Given the description of an element on the screen output the (x, y) to click on. 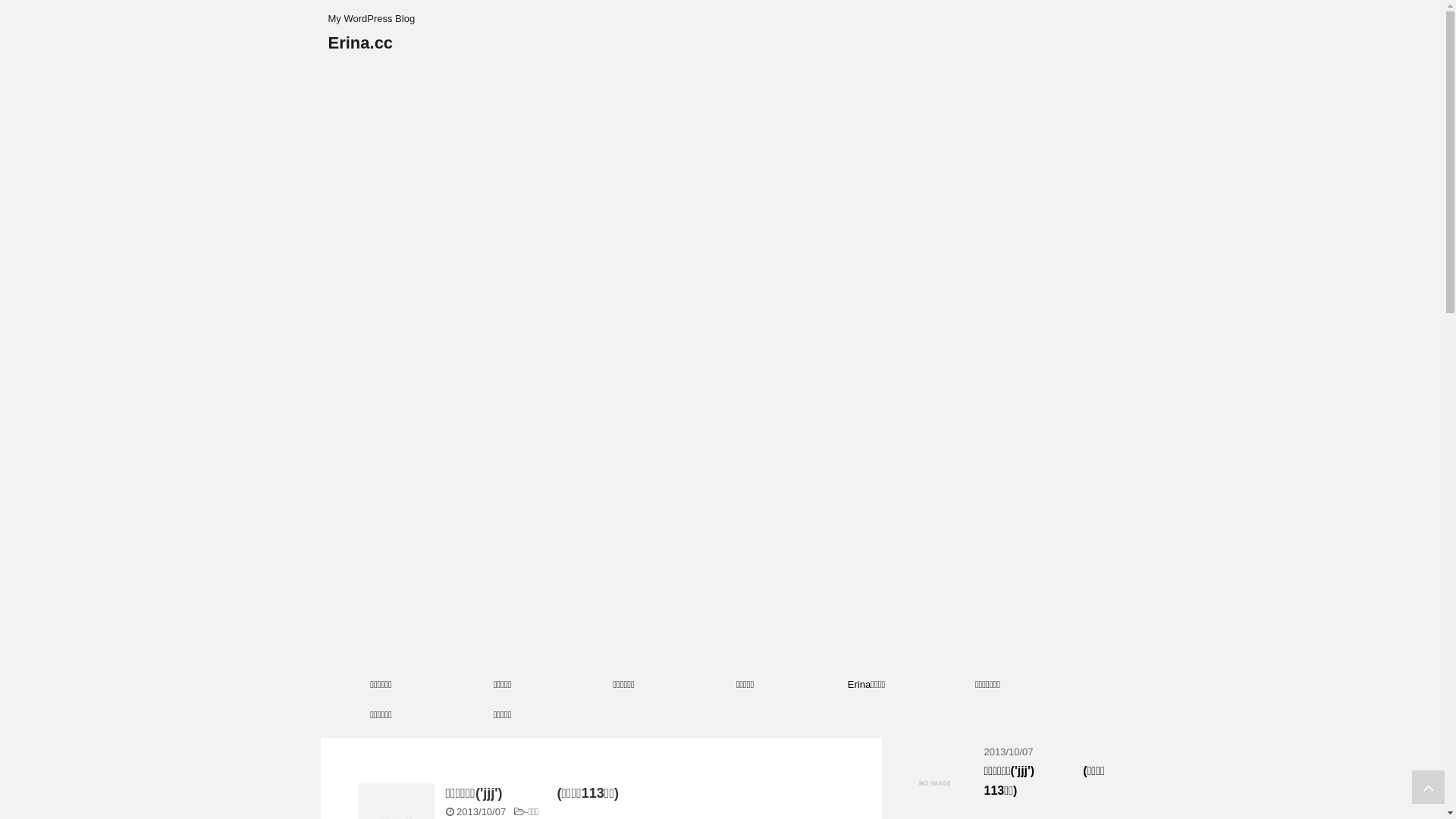
Erina.cc Element type: text (359, 42)
